Given the description of an element on the screen output the (x, y) to click on. 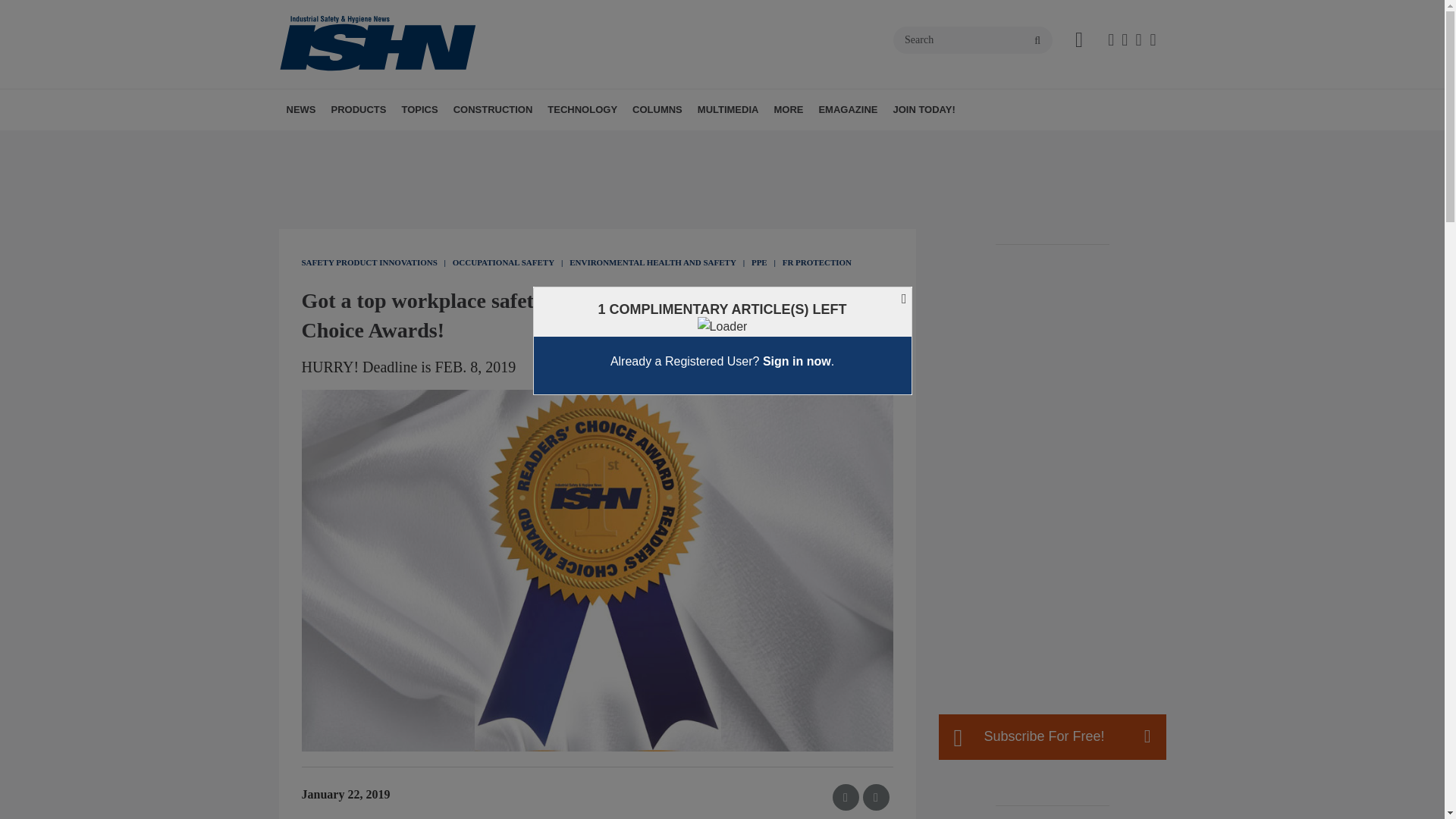
CONSTRUCTION (492, 109)
LEADING SAFETY (740, 142)
COLUMNS (657, 109)
TODAY'S NEWS (373, 142)
Search (972, 40)
search (1037, 40)
VIDEOS (801, 142)
PRODUCT INNOVATIONS (417, 142)
Search (972, 40)
TOPICS (419, 109)
